Given the description of an element on the screen output the (x, y) to click on. 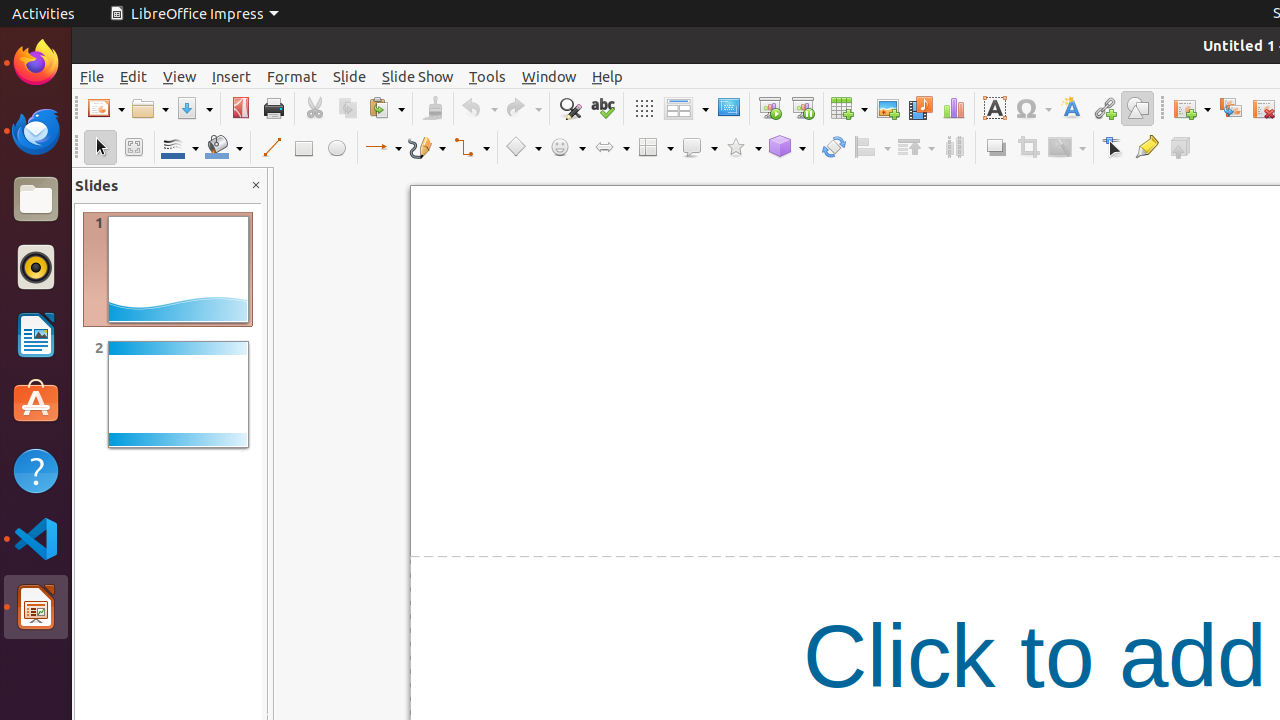
Toggle Extrusion Element type: push-button (1179, 147)
Line Element type: push-button (270, 147)
Symbol Element type: push-button (1033, 108)
Grid Element type: toggle-button (643, 108)
Basic Shapes Element type: push-button (523, 147)
